Given the description of an element on the screen output the (x, y) to click on. 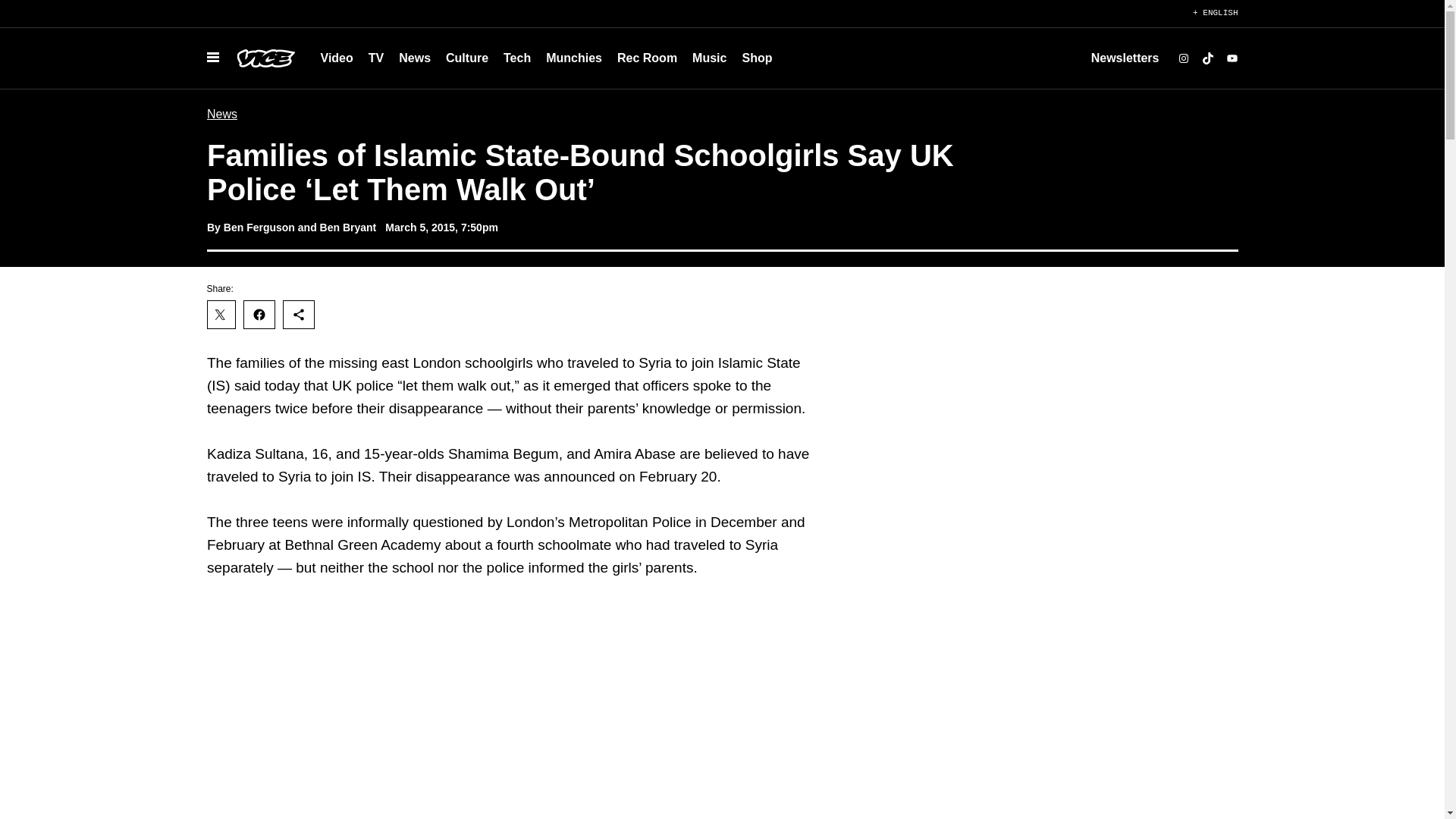
Culture (467, 58)
Shop (755, 58)
Rec Room (647, 58)
YouTube (1231, 58)
Open Menu (211, 58)
Posts by Ben Ferguson and Ben Bryant (298, 227)
TikTok (1206, 58)
Munchies (574, 58)
Tech (517, 58)
Music (708, 58)
